Given the description of an element on the screen output the (x, y) to click on. 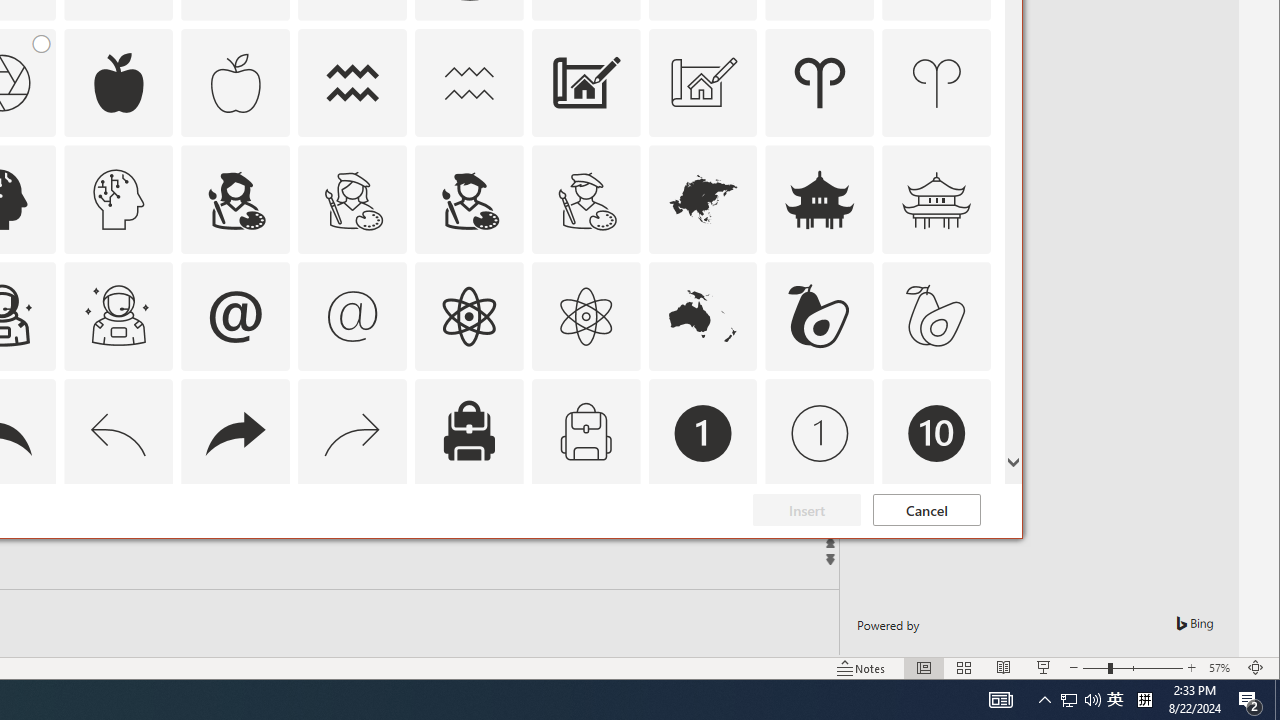
AutomationID: Icons_Avocado_M (936, 316)
Cancel (1115, 699)
AutomationID: Icons_ArtistMale (926, 509)
Tray Input Indicator - Chinese (Simplified, China) (468, 200)
AutomationID: Icons (1144, 699)
AutomationID: Icons_Aquarius_M (936, 550)
